Given the description of an element on the screen output the (x, y) to click on. 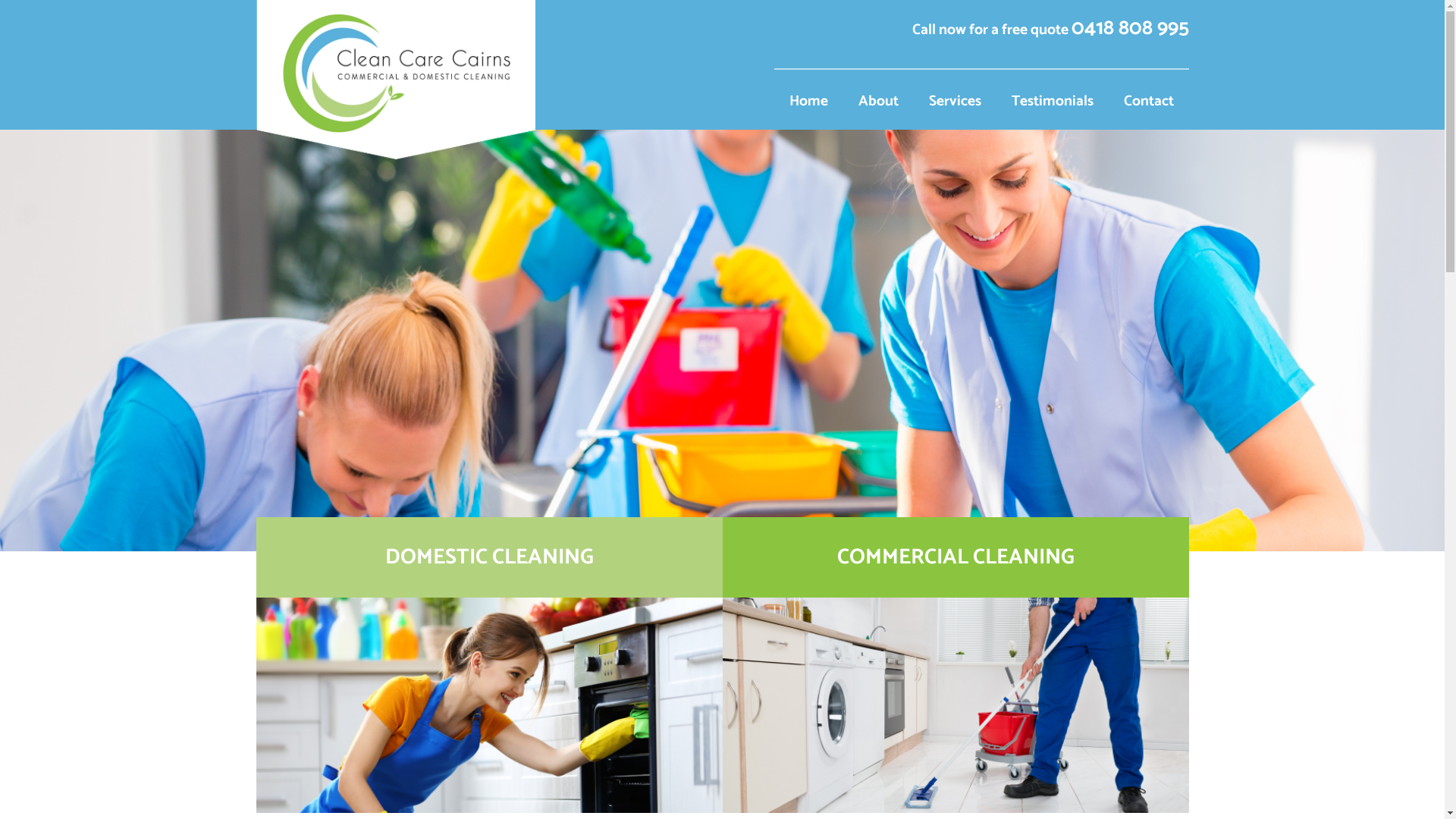
Home Element type: text (807, 95)
About Element type: text (878, 95)
Services Element type: text (954, 95)
Contact Element type: text (1148, 95)
Testimonials Element type: text (1052, 95)
